Given the description of an element on the screen output the (x, y) to click on. 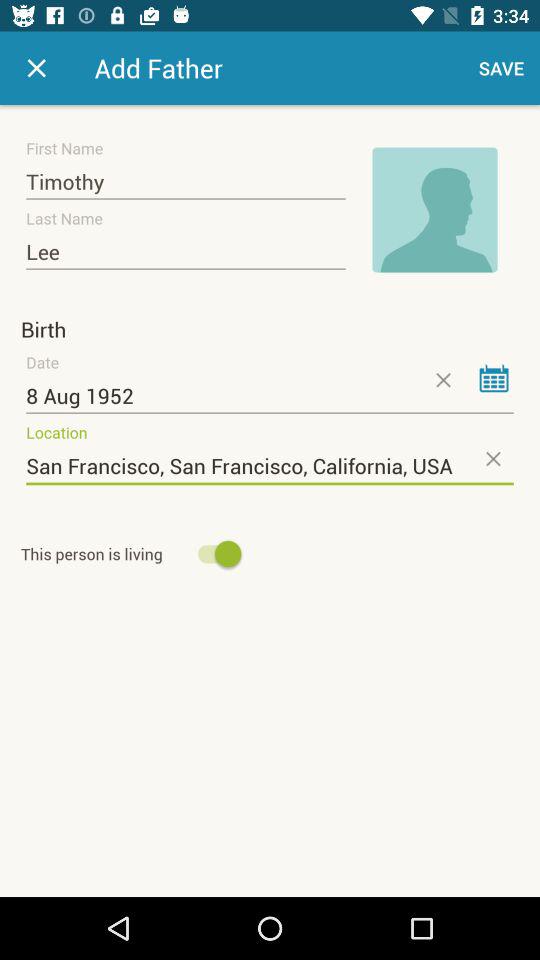
clear location (492, 458)
